Given the description of an element on the screen output the (x, y) to click on. 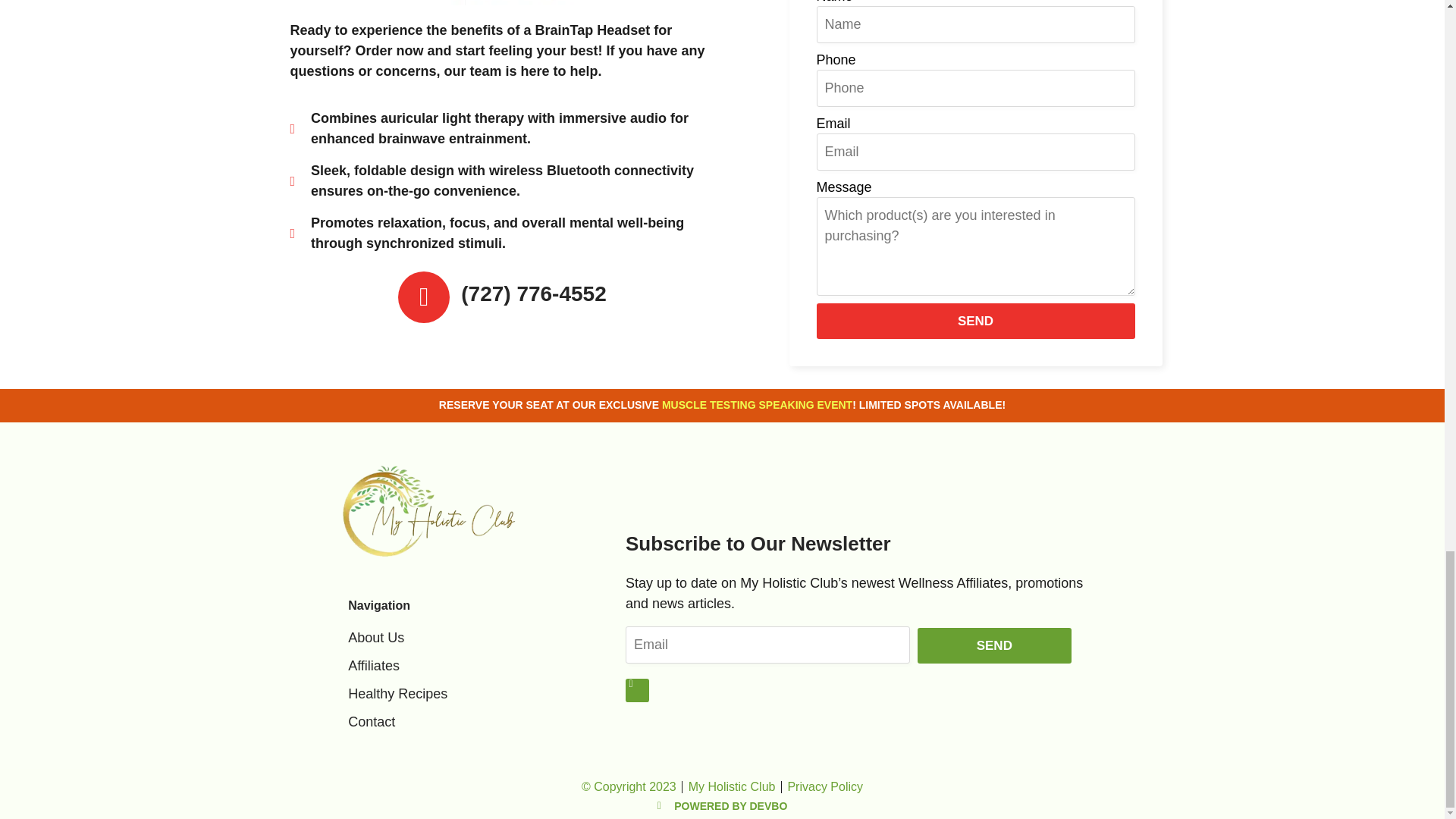
Healthy Recipes (459, 693)
SEND (974, 321)
About Us (459, 638)
Affiliates (459, 666)
Contact (459, 721)
